Given the description of an element on the screen output the (x, y) to click on. 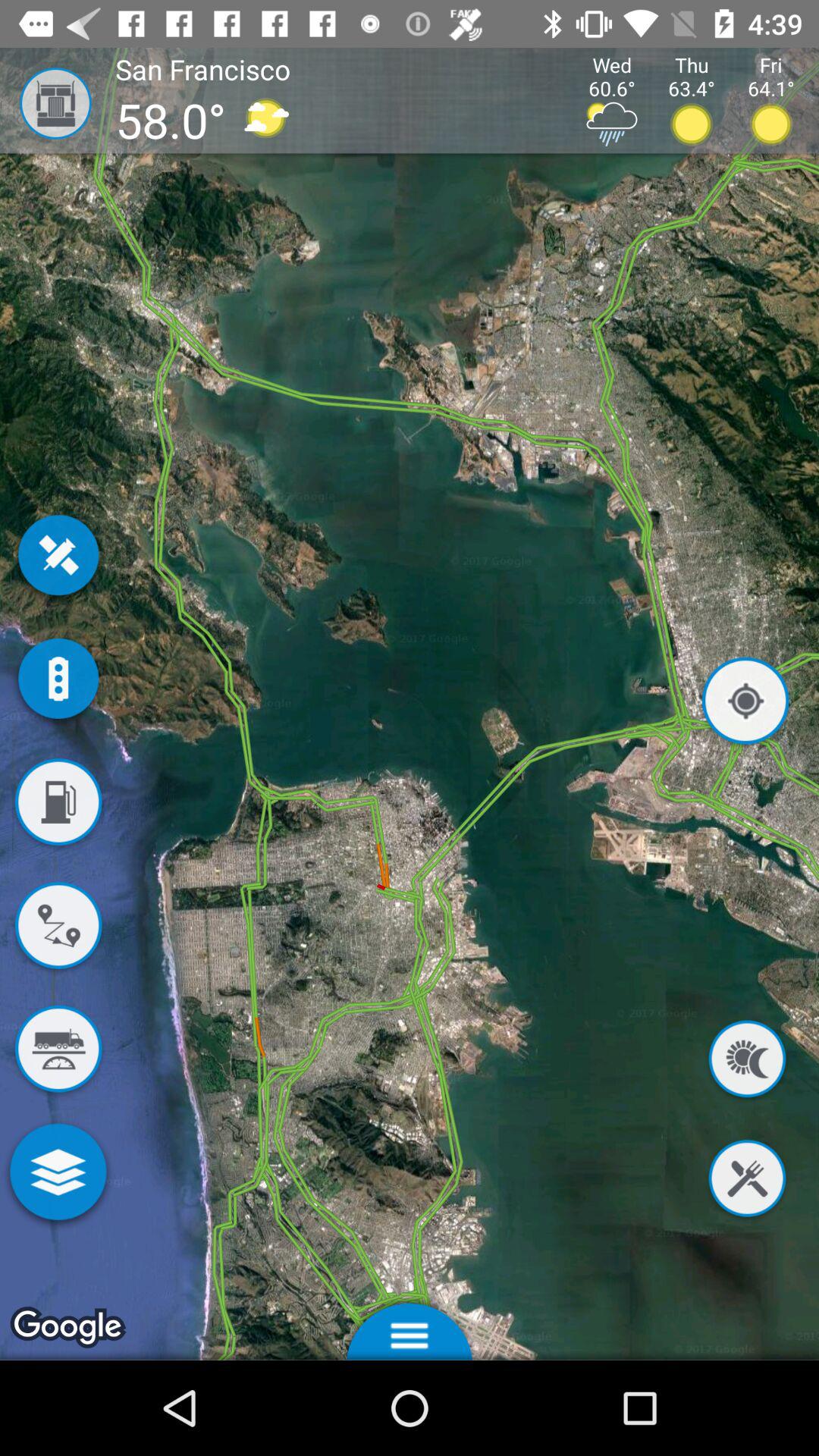
open directions page (57, 928)
